Given the description of an element on the screen output the (x, y) to click on. 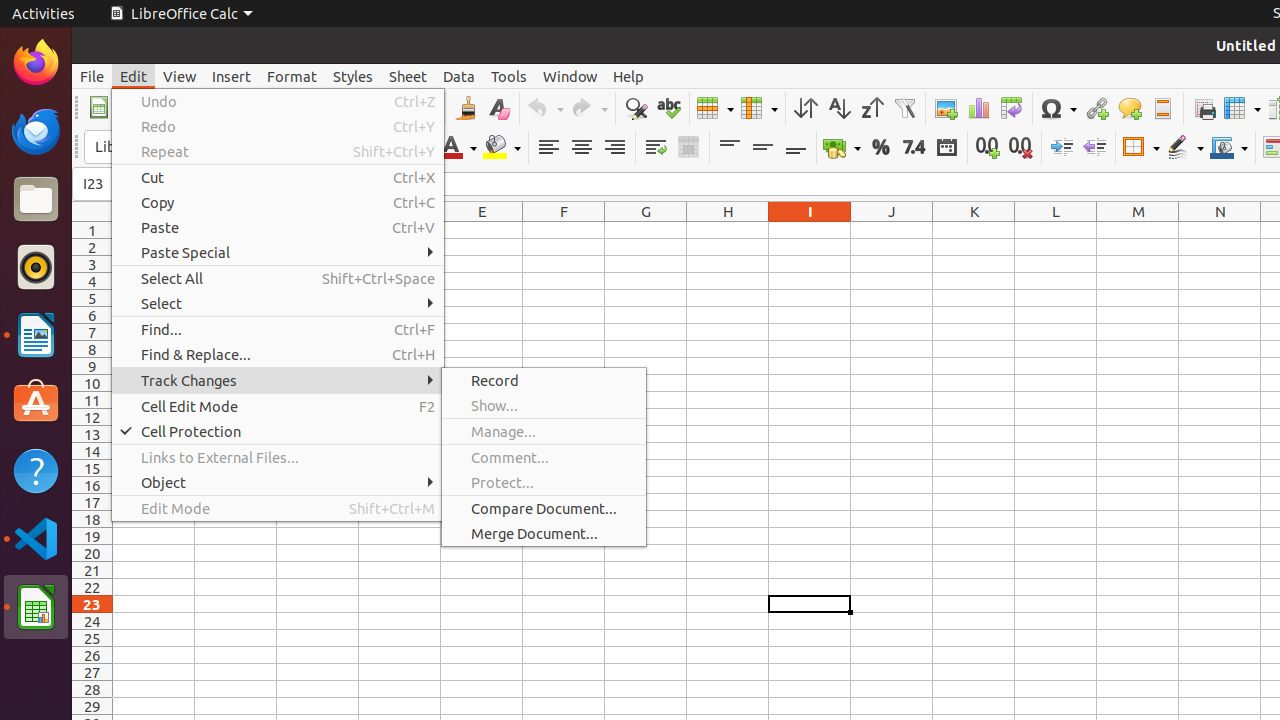
H1 Element type: table-cell (728, 230)
Edit Mode Element type: menu-item (278, 508)
Currency Element type: push-button (842, 147)
Sort Descending Element type: push-button (871, 108)
AutoFilter Element type: push-button (904, 108)
